Given the description of an element on the screen output the (x, y) to click on. 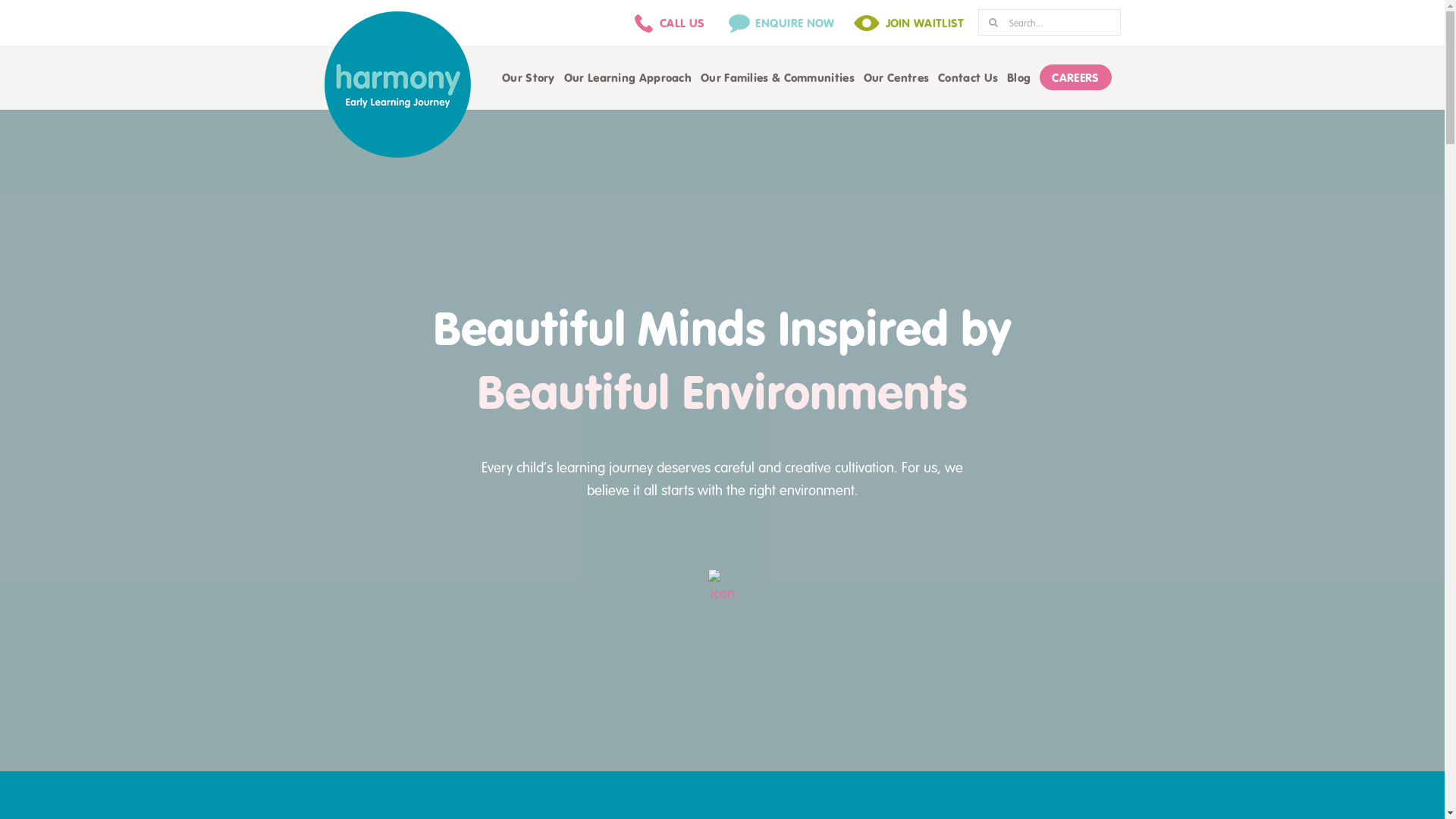
CAREERS Element type: text (1074, 77)
Our Centres Element type: text (895, 77)
ENQUIRE NOW Element type: text (779, 22)
Our Families & Communities Element type: text (777, 77)
JOIN WAITLIST Element type: text (909, 22)
Our Story Element type: text (528, 77)
Our Learning Approach Element type: text (627, 77)
CALL US Element type: text (666, 22)
Contact Us Element type: text (967, 77)
Blog Element type: text (1018, 77)
